Given the description of an element on the screen output the (x, y) to click on. 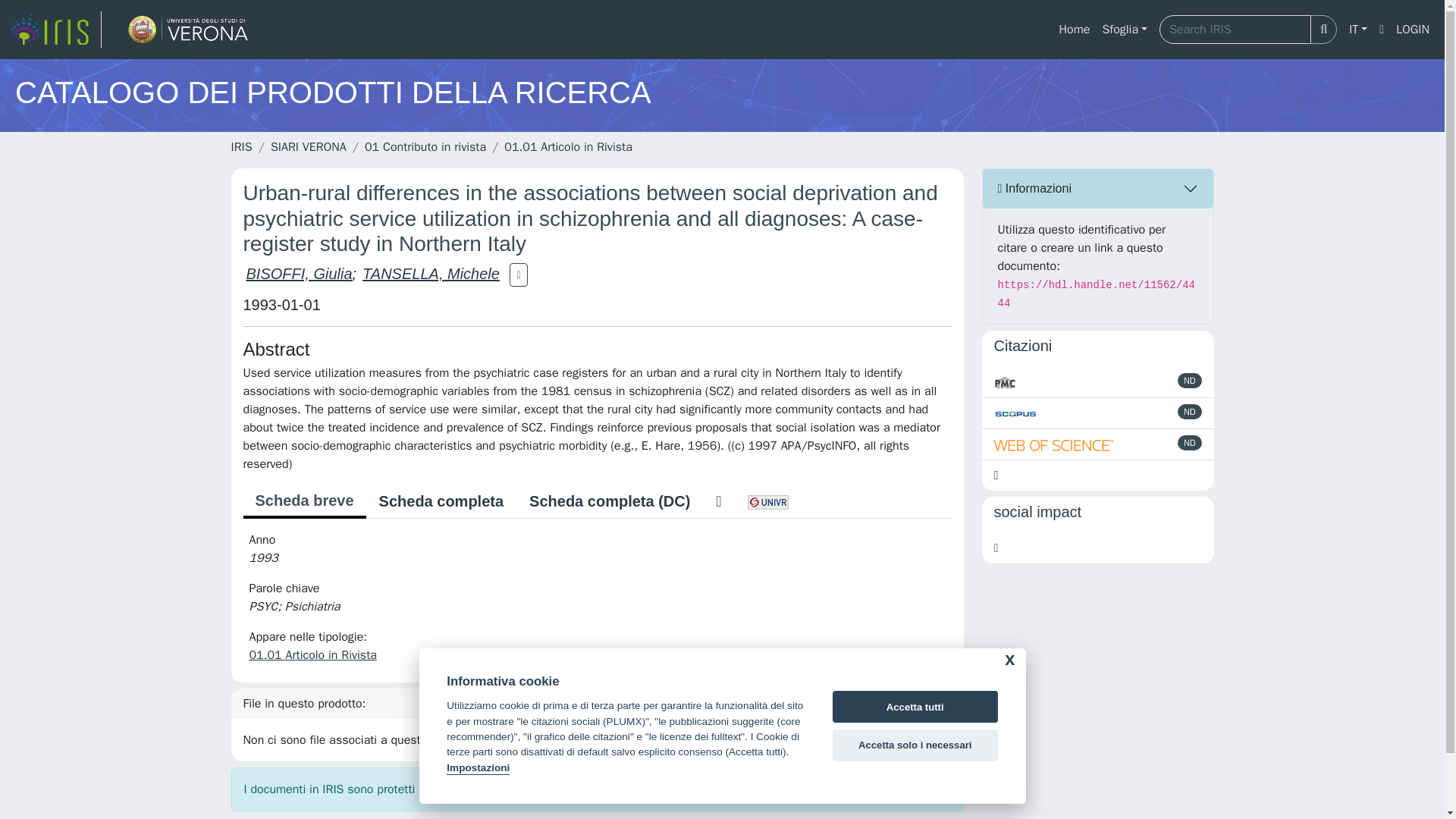
BISOFFI, Giulia (299, 273)
01 Contributo in rivista (425, 146)
Scheda completa (441, 500)
IRIS (240, 146)
Scheda breve (304, 501)
01.01 Articolo in Rivista (311, 654)
01.01 Articolo in Rivista (567, 146)
TANSELLA, Michele (430, 273)
SIARI VERONA (308, 146)
LOGIN (1412, 29)
IT (1357, 29)
Home (1074, 29)
Sfoglia (1124, 29)
 Informazioni (1097, 188)
